Given the description of an element on the screen output the (x, y) to click on. 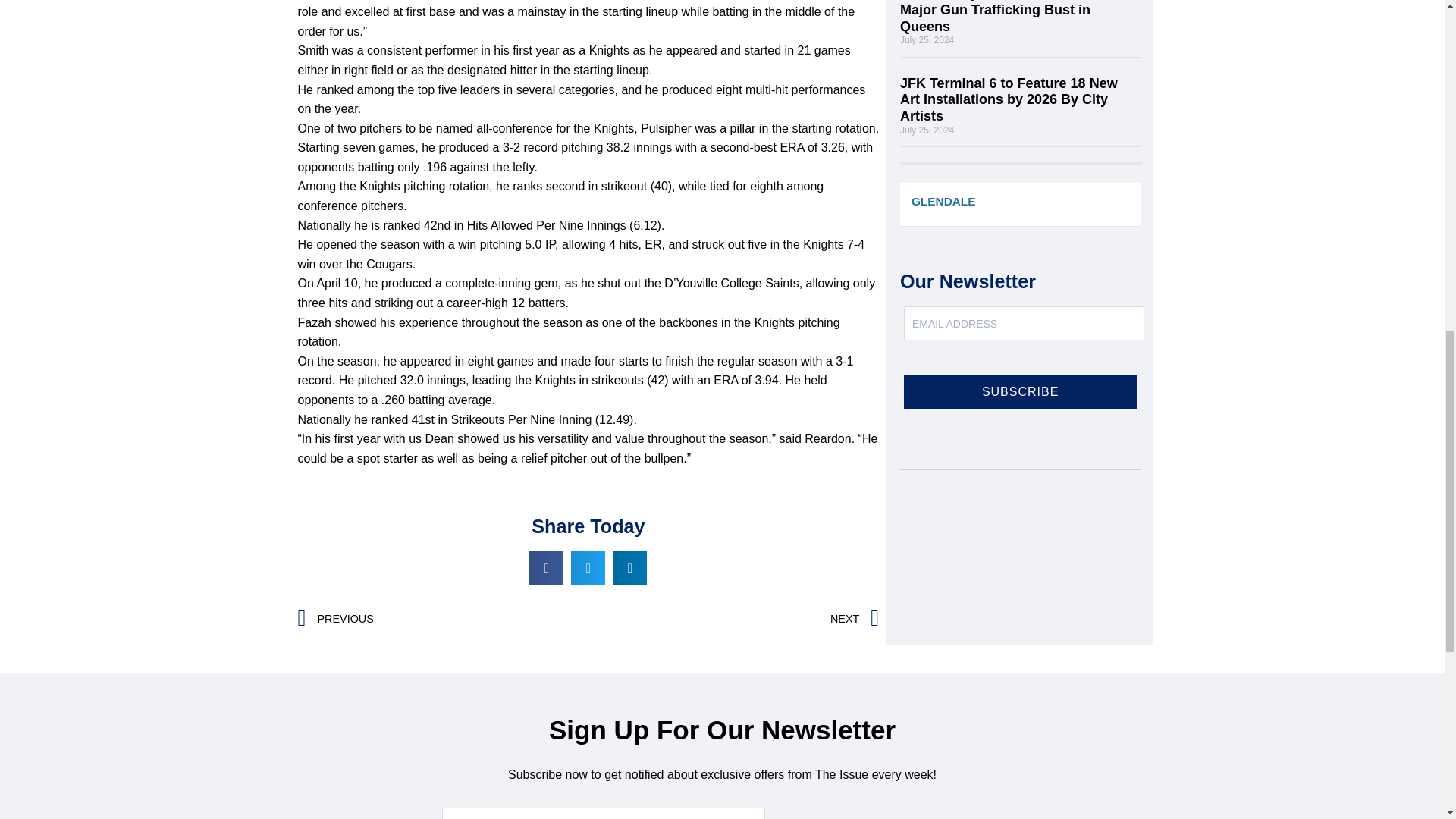
GLENDALE (943, 201)
GLENDALE (1019, 204)
Subscribe (1020, 391)
